Given the description of an element on the screen output the (x, y) to click on. 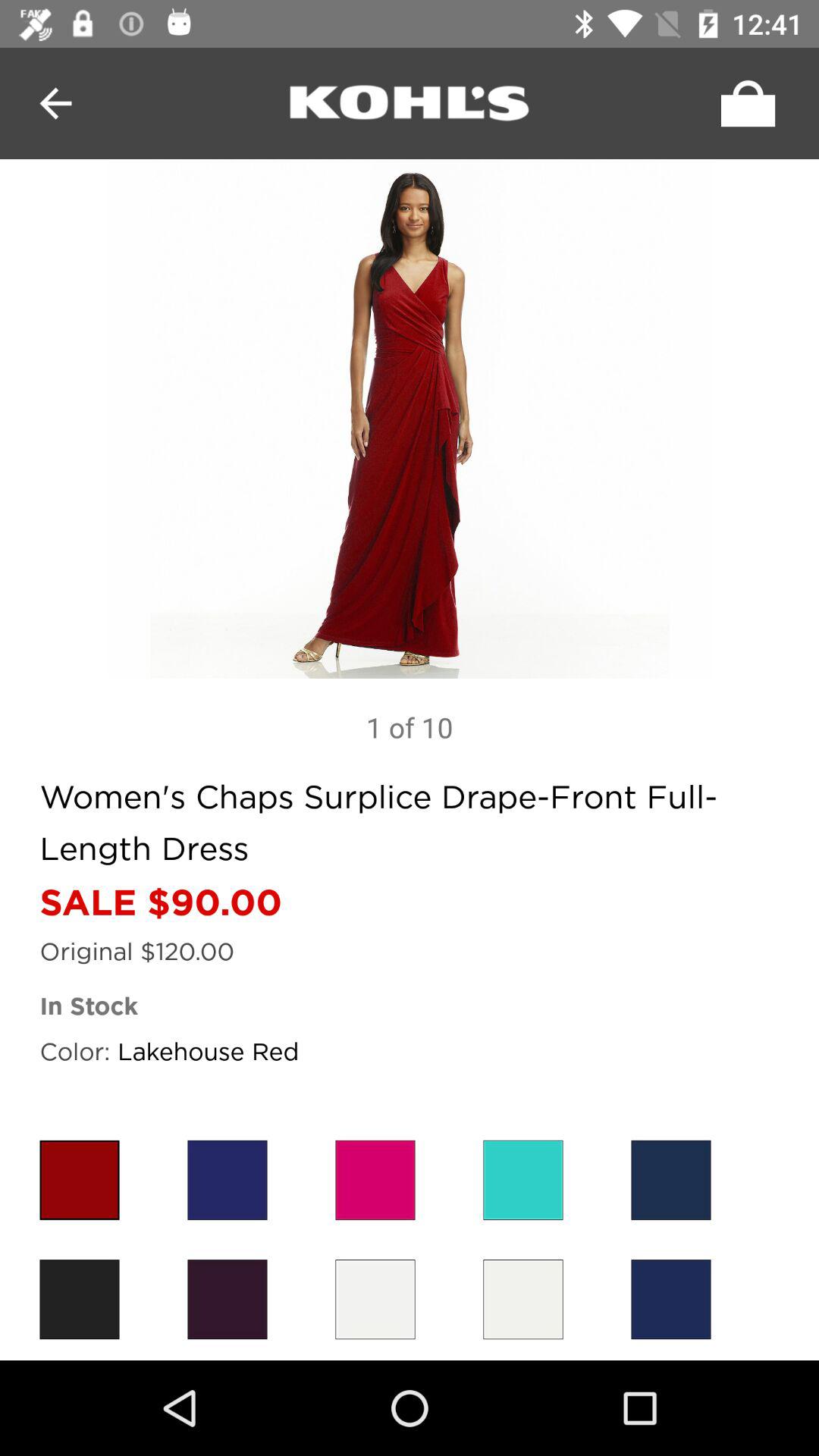
click on second color button which is in the last row (227, 1299)
select the black color box which is at bottom left corner (79, 1299)
click on first color in first row from right (671, 1180)
move to the color beside blue in the second row (523, 1299)
click on the blue color box which is near to red color box (227, 1180)
